Given the description of an element on the screen output the (x, y) to click on. 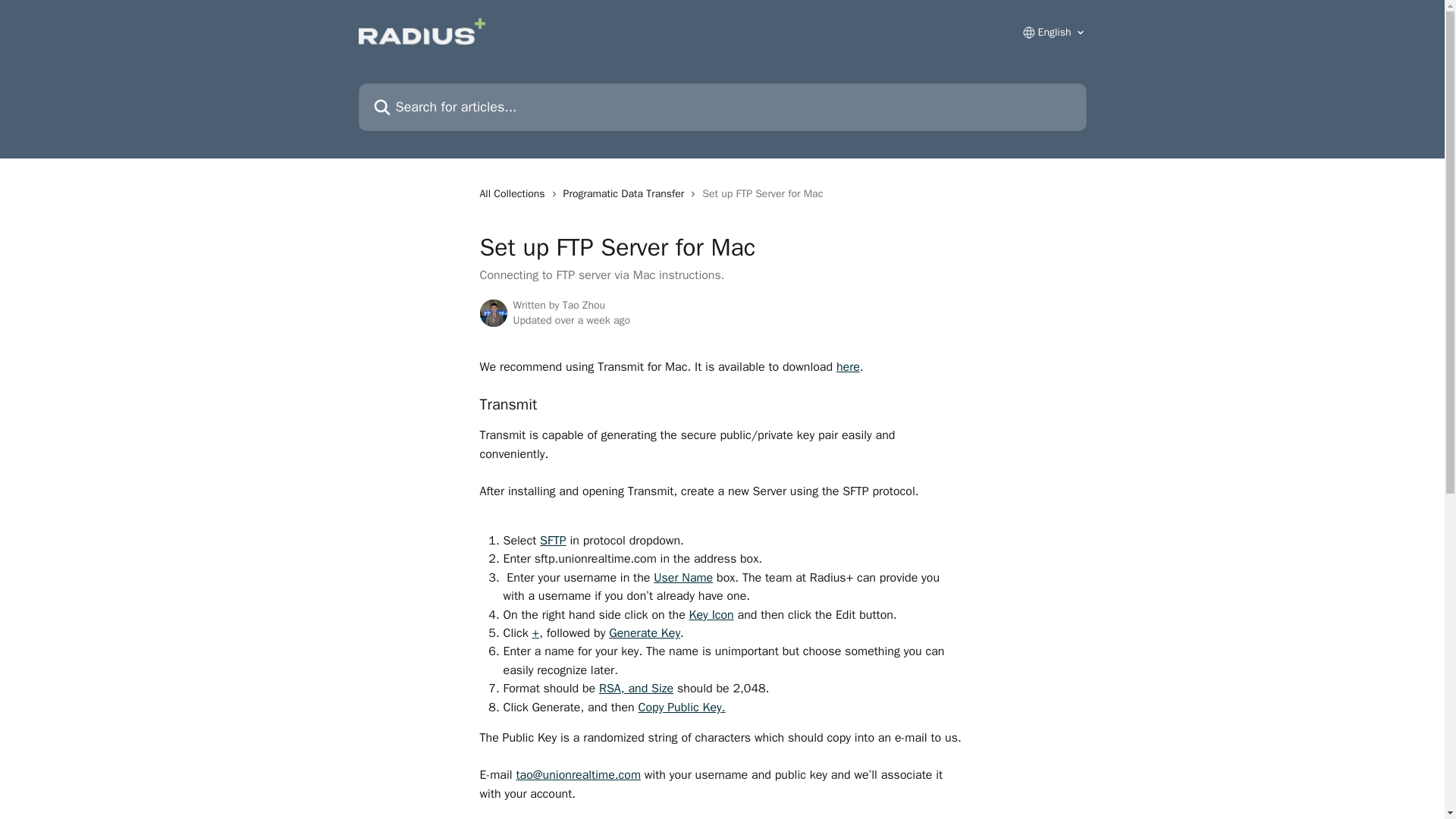
, and Size (646, 688)
SFTP (553, 540)
User Name (683, 577)
Copy Public Key (678, 707)
All Collections (514, 193)
Programatic Data Transfer (626, 193)
Key Icon (710, 614)
Generate Key (643, 632)
RSA (609, 688)
here (847, 366)
